Given the description of an element on the screen output the (x, y) to click on. 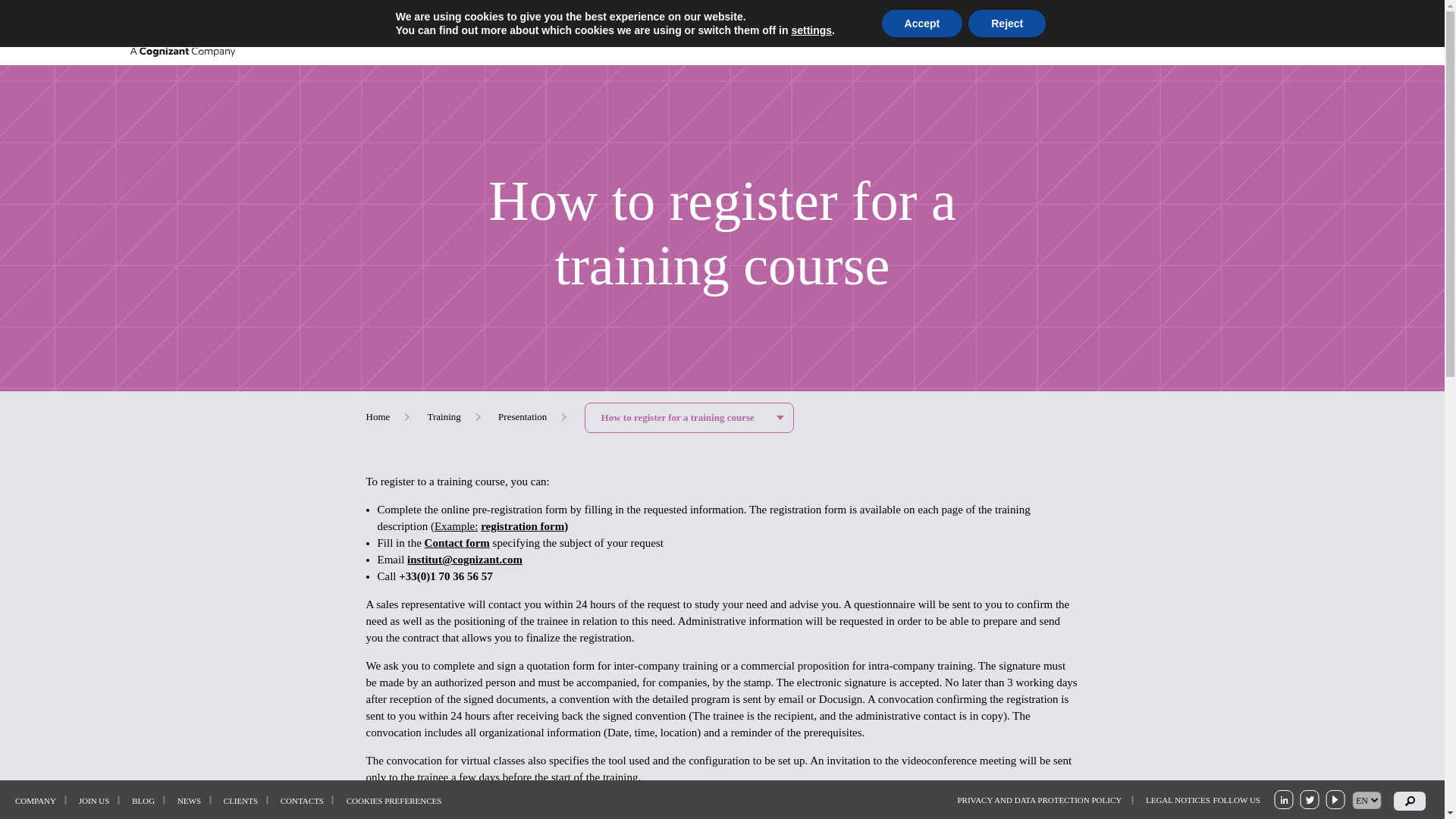
Training (444, 416)
Contact form (457, 542)
FR (1334, 29)
Home (377, 416)
EN (1359, 29)
Presentation (522, 416)
How to register for a training course (689, 417)
